Given the description of an element on the screen output the (x, y) to click on. 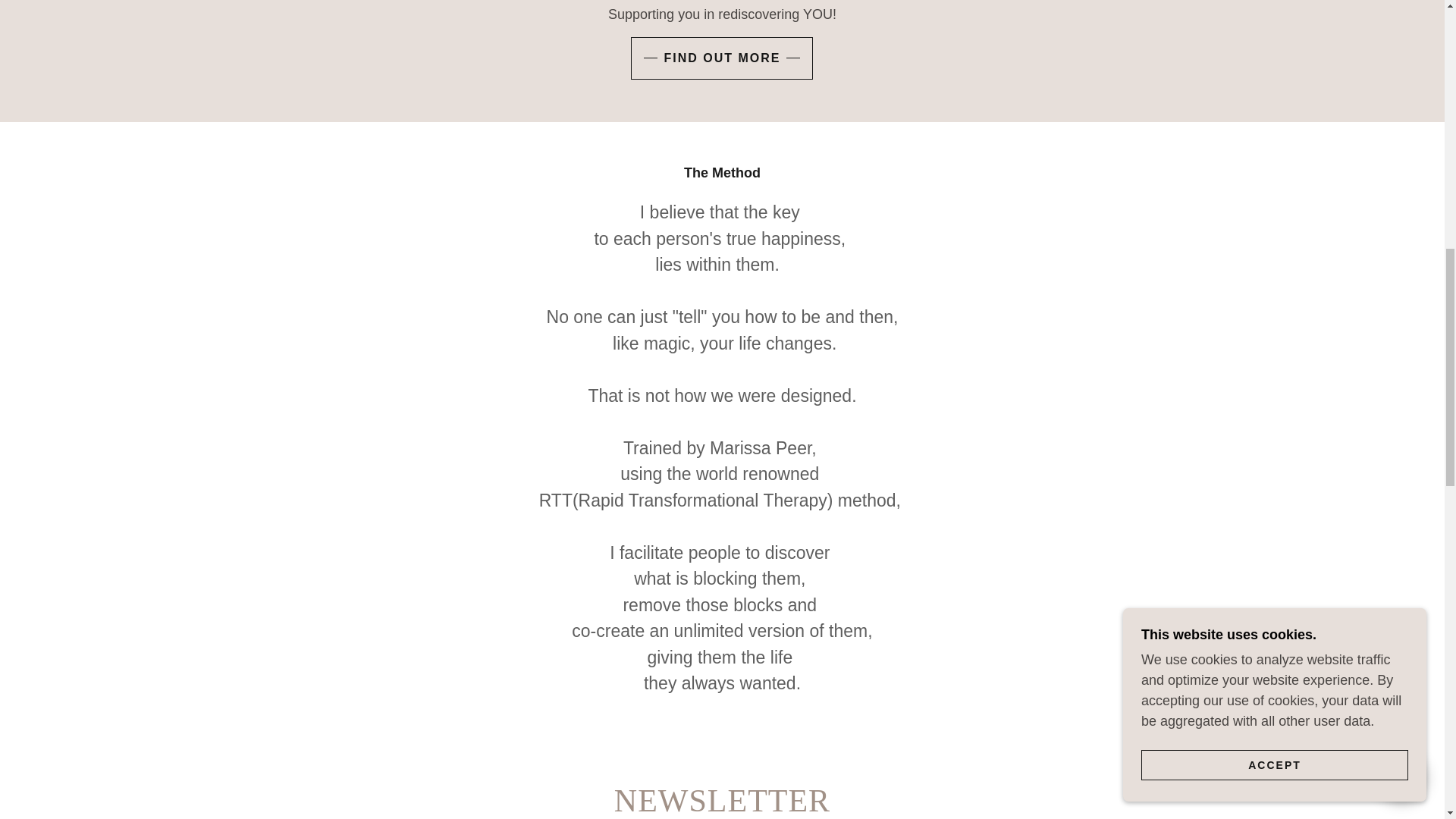
FIND OUT MORE (721, 57)
